Given the description of an element on the screen output the (x, y) to click on. 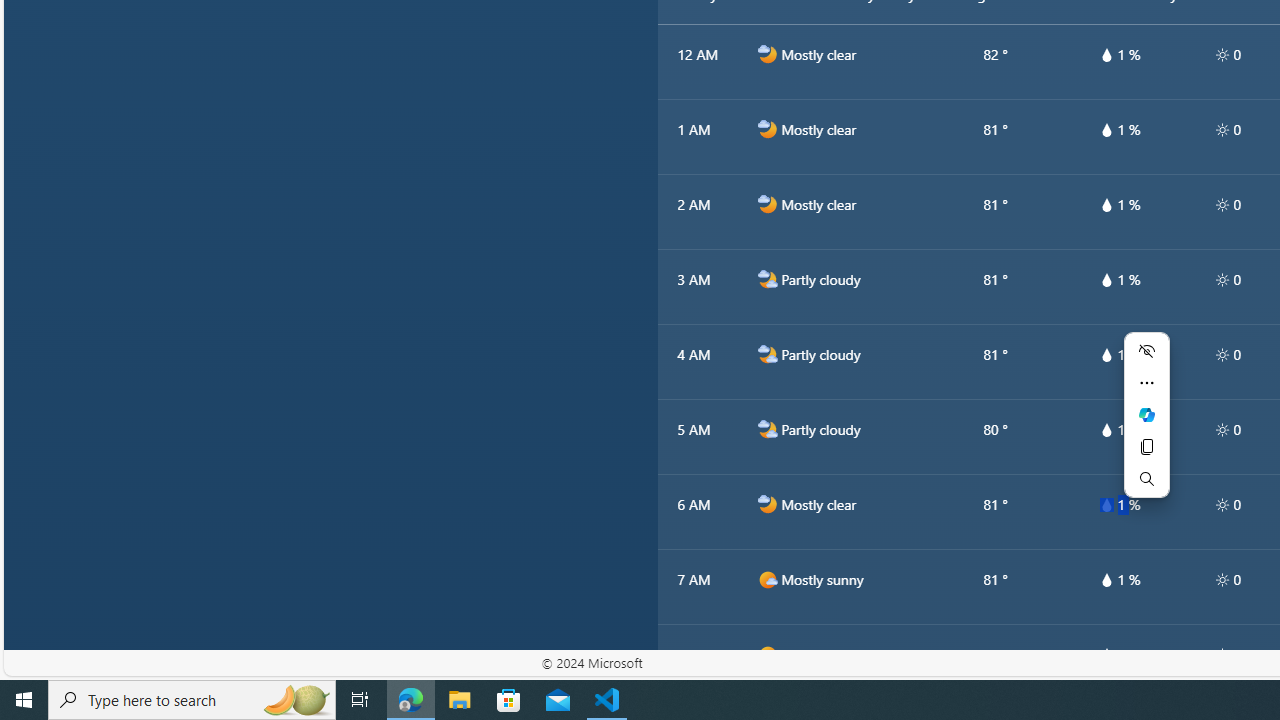
hourlyTable/drop (1106, 654)
n2000 (767, 429)
hourlyTable/uv (1222, 654)
Mini menu on text selection (1146, 426)
Mini menu on text selection (1146, 414)
More actions (1146, 382)
n1000 (767, 504)
Copy (1146, 446)
Ask Copilot (1146, 414)
d1000 (767, 655)
Hide menu (1146, 350)
